Given the description of an element on the screen output the (x, y) to click on. 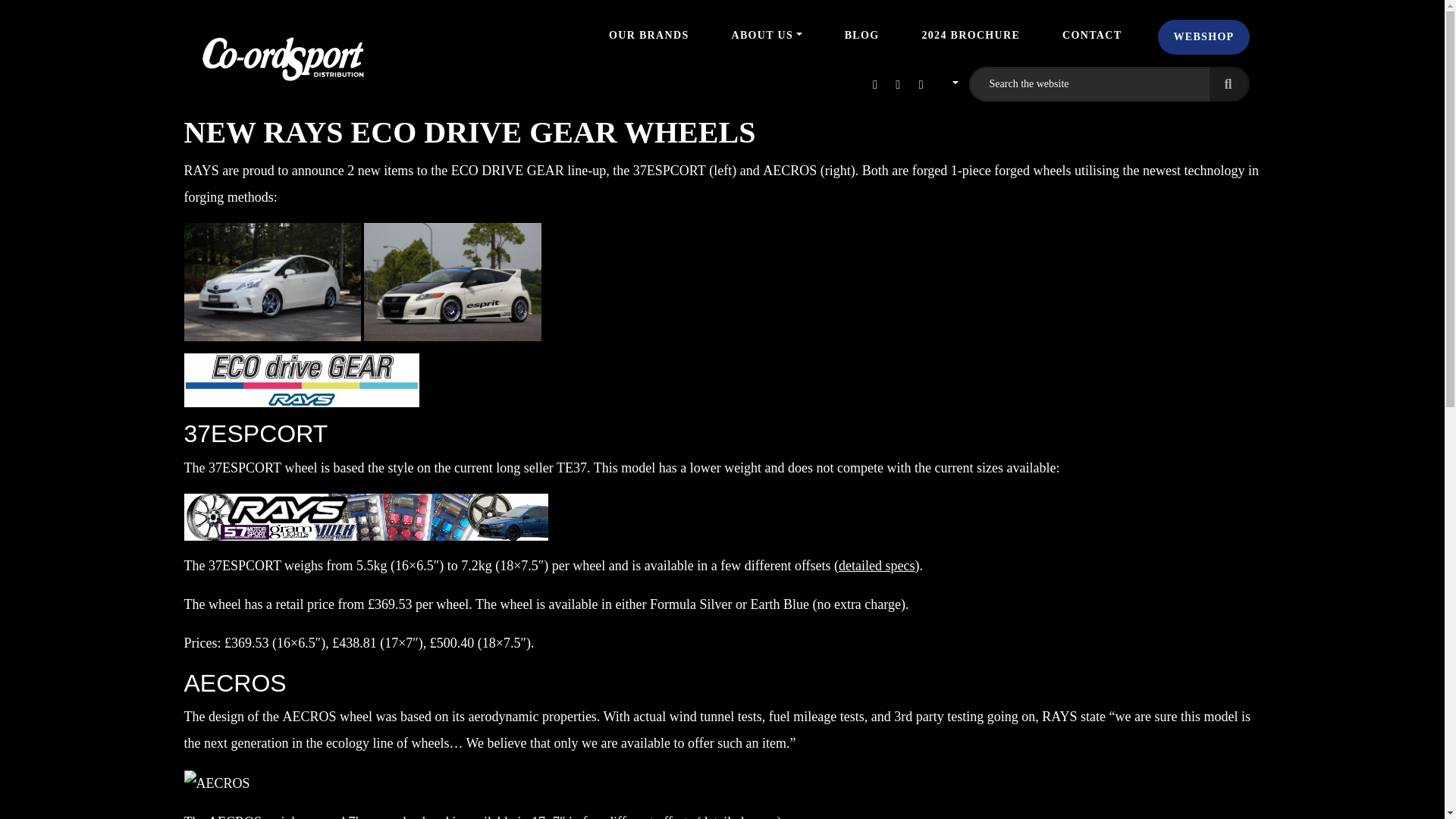
Webshop (1203, 36)
WEBSHOP (1203, 36)
ABOUT US (766, 35)
2024 Brochure (970, 35)
CONTACT (1091, 35)
Our Brands (648, 35)
detailed specs (876, 565)
About Us (766, 35)
BLOG (861, 35)
Contact (1091, 35)
